Given the description of an element on the screen output the (x, y) to click on. 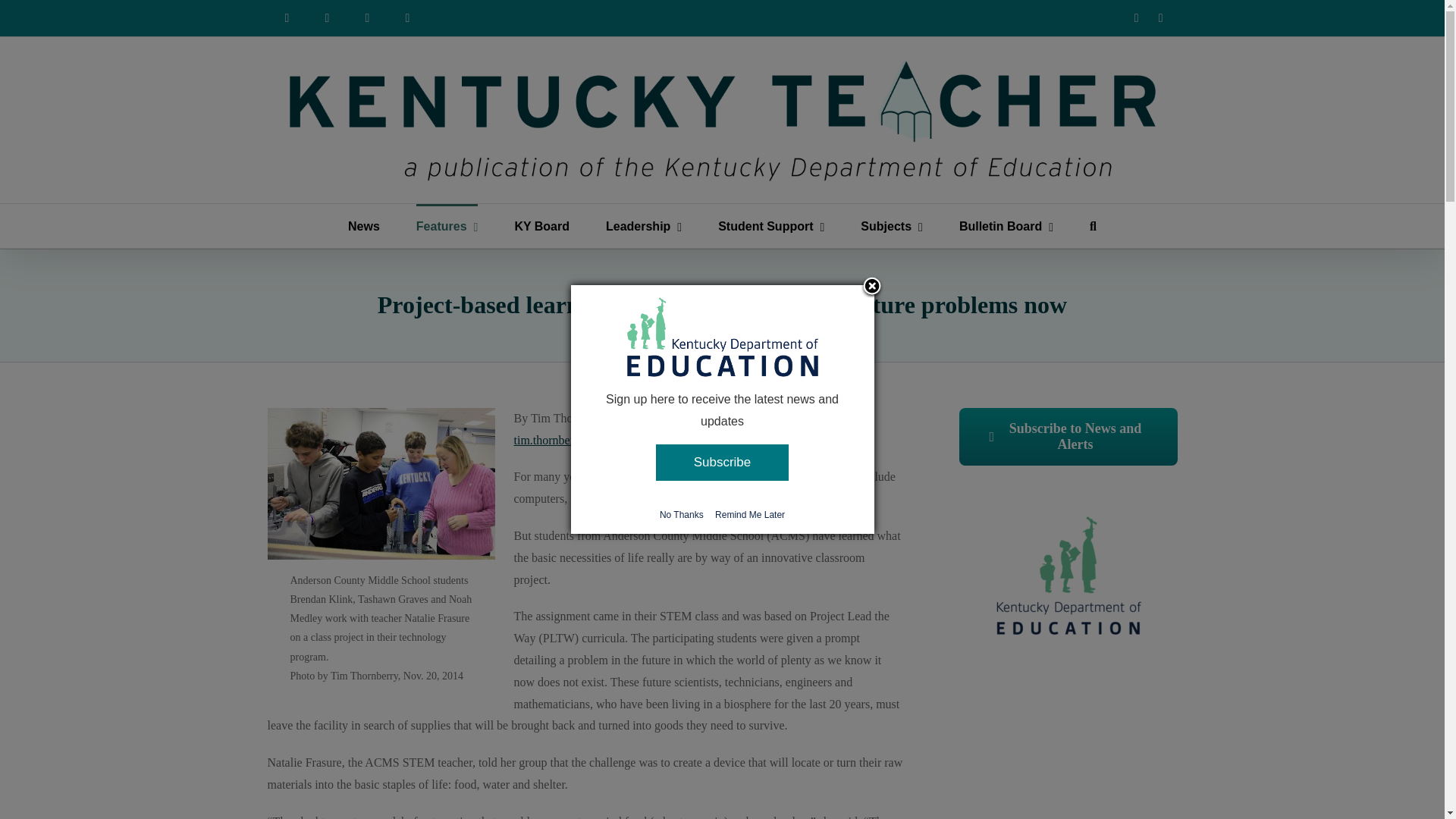
Staff (367, 18)
About (327, 18)
Contact (408, 18)
KY Board (541, 225)
Leadership (643, 225)
News (363, 225)
Search (1092, 225)
X (1160, 18)
Facebook (1136, 18)
Home (285, 18)
Subjects (891, 225)
Features (447, 225)
Bulletin Board (1005, 225)
Student Support (770, 225)
